Given the description of an element on the screen output the (x, y) to click on. 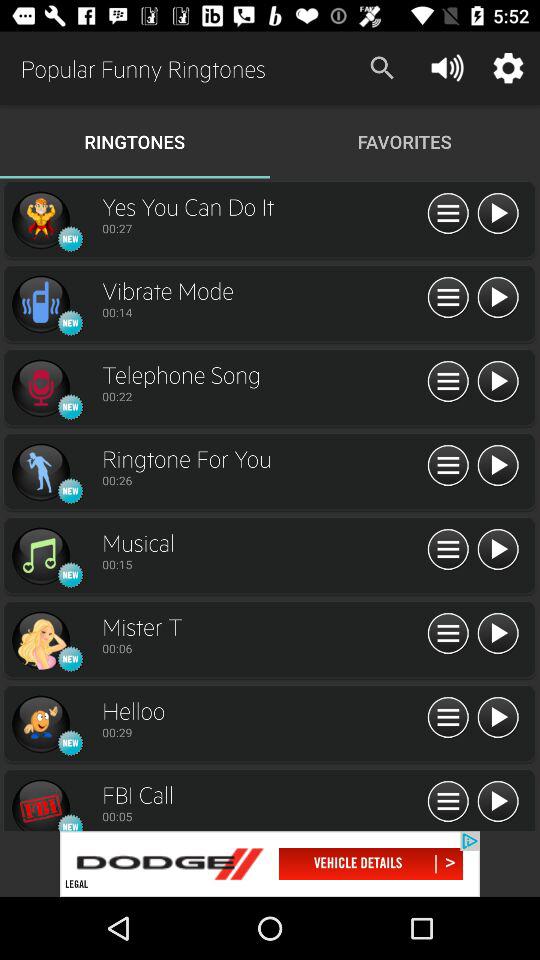
play button (497, 465)
